Given the description of an element on the screen output the (x, y) to click on. 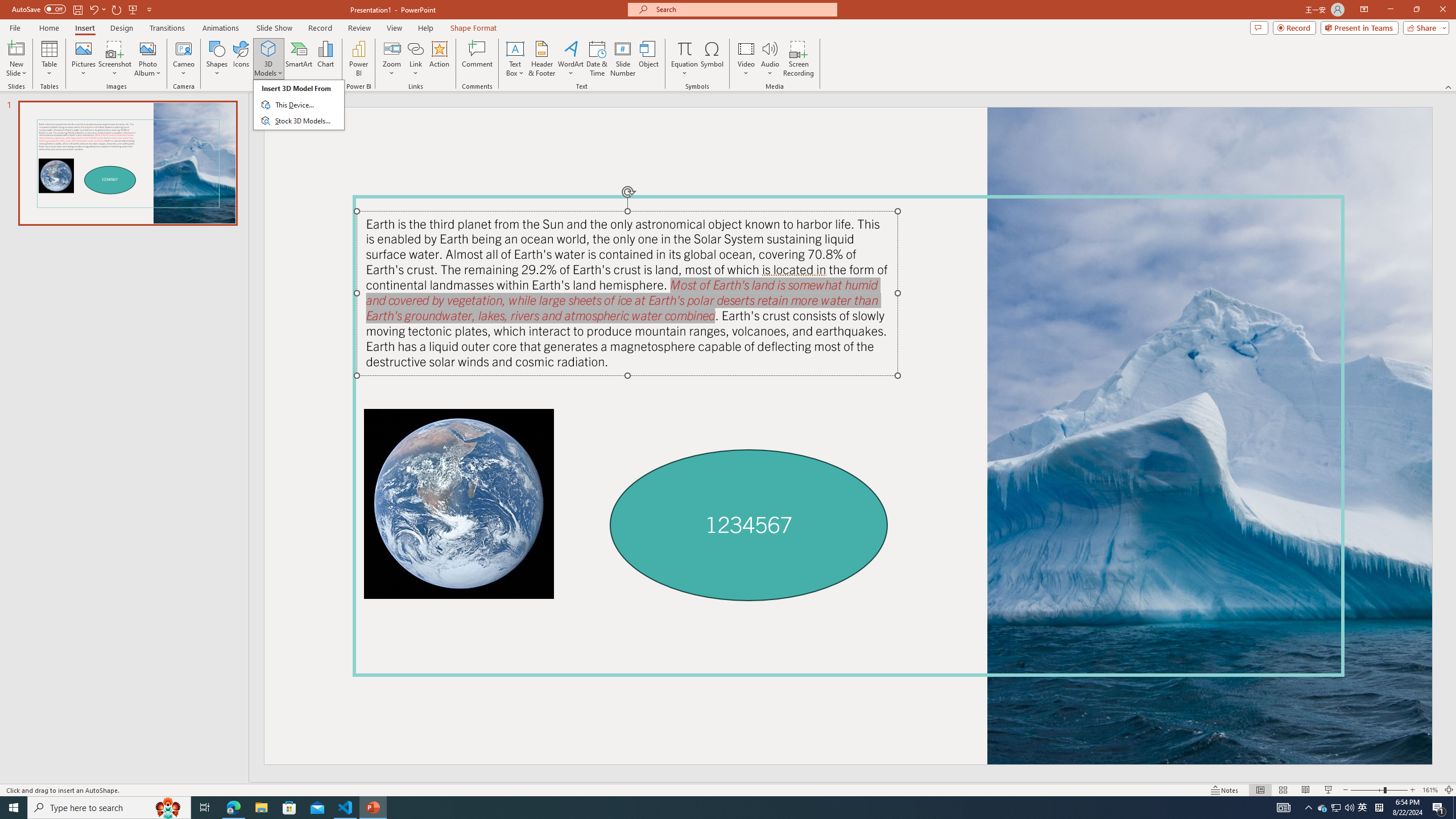
Icons (240, 58)
Zoom 161% (1430, 790)
Table (49, 58)
